Given the description of an element on the screen output the (x, y) to click on. 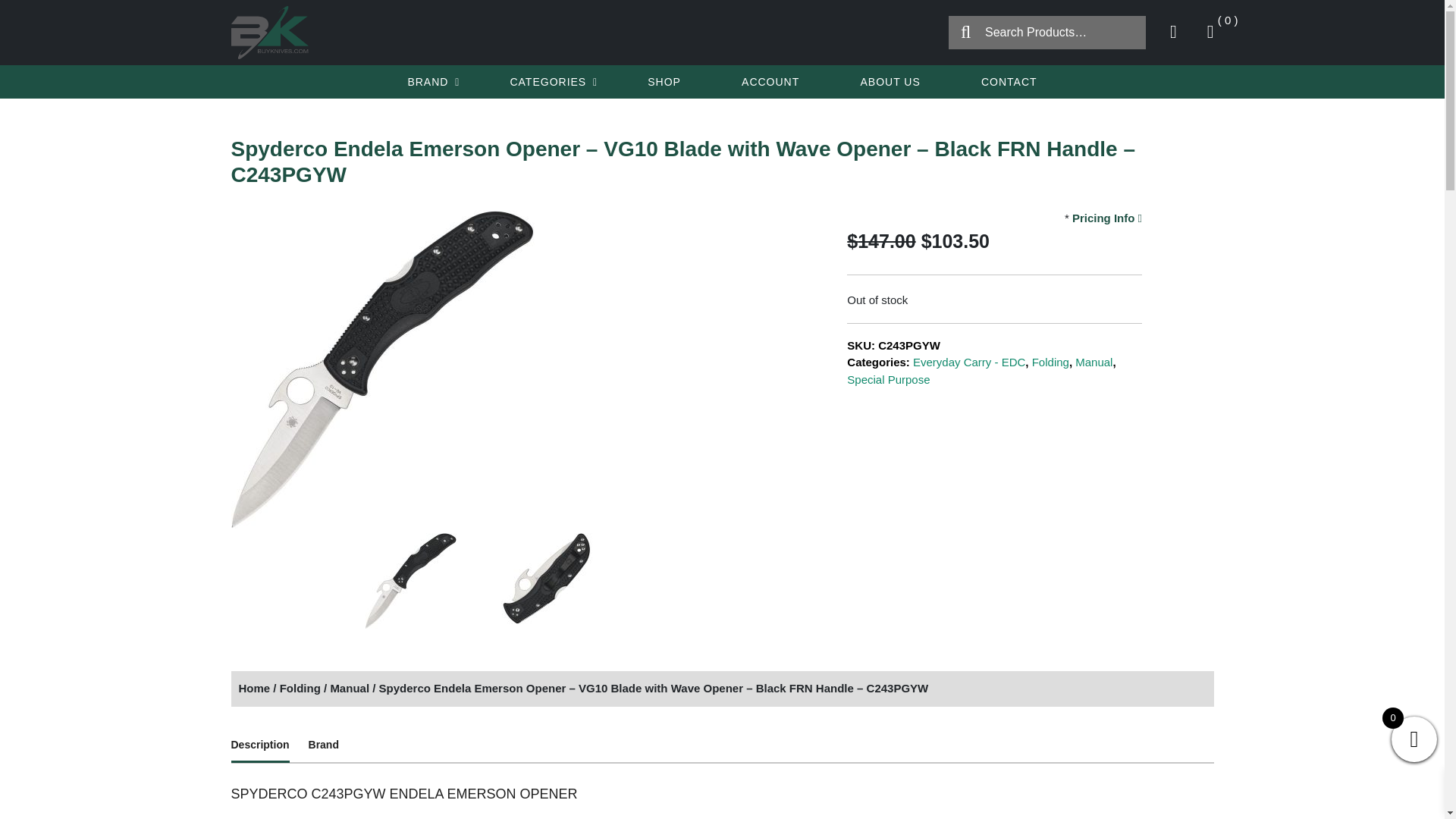
BRAND (429, 81)
Search for: (1047, 32)
CATEGORIES (549, 81)
